Given the description of an element on the screen output the (x, y) to click on. 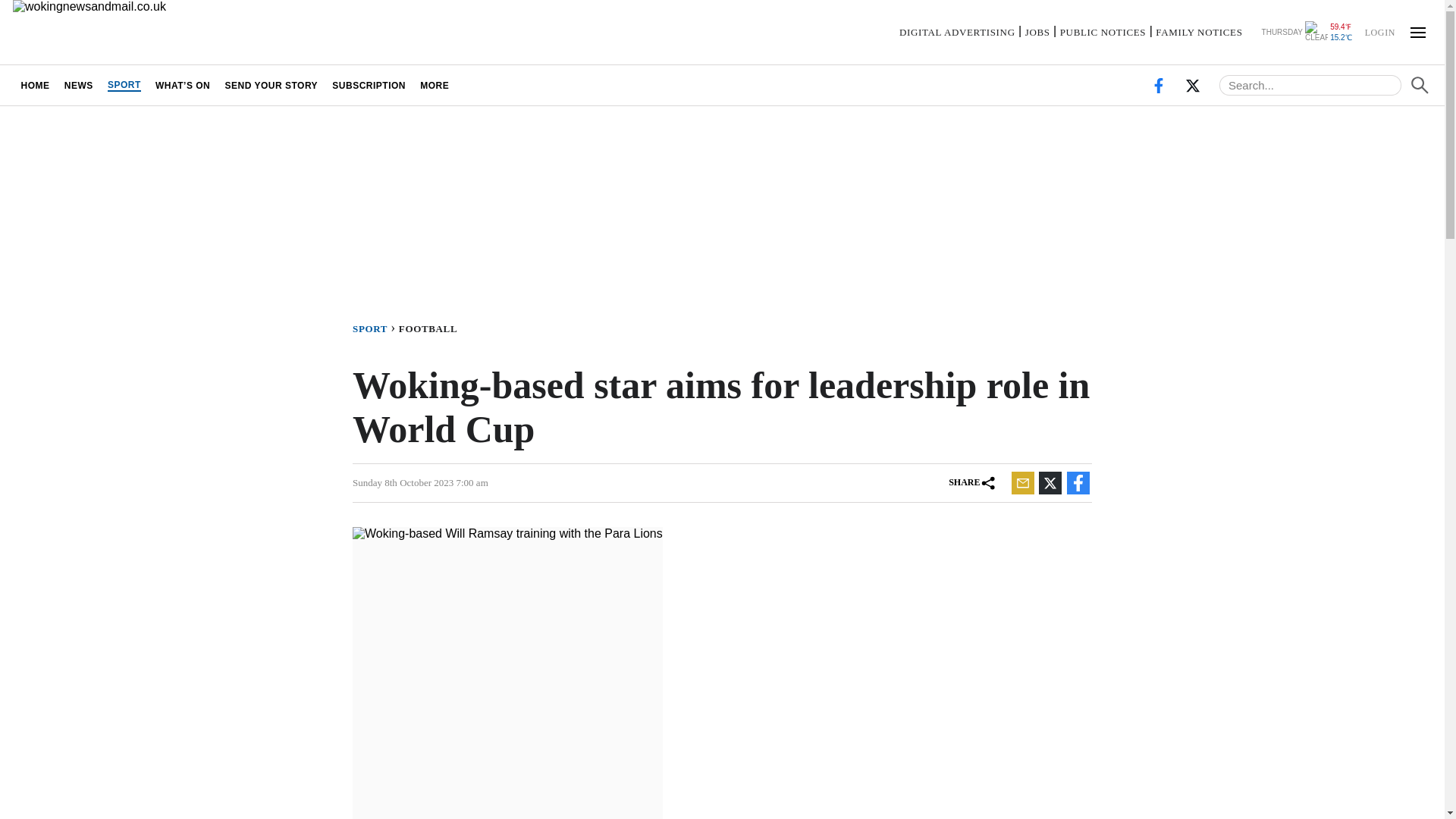
FAMILY NOTICES (1198, 32)
SEND YOUR STORY (270, 85)
SPORT (124, 85)
MORE (435, 85)
HOME (34, 85)
LOGIN (1379, 31)
NEWS (78, 85)
FOOTBALL (430, 328)
SPORT (375, 328)
SUBSCRIPTION (368, 85)
